Given the description of an element on the screen output the (x, y) to click on. 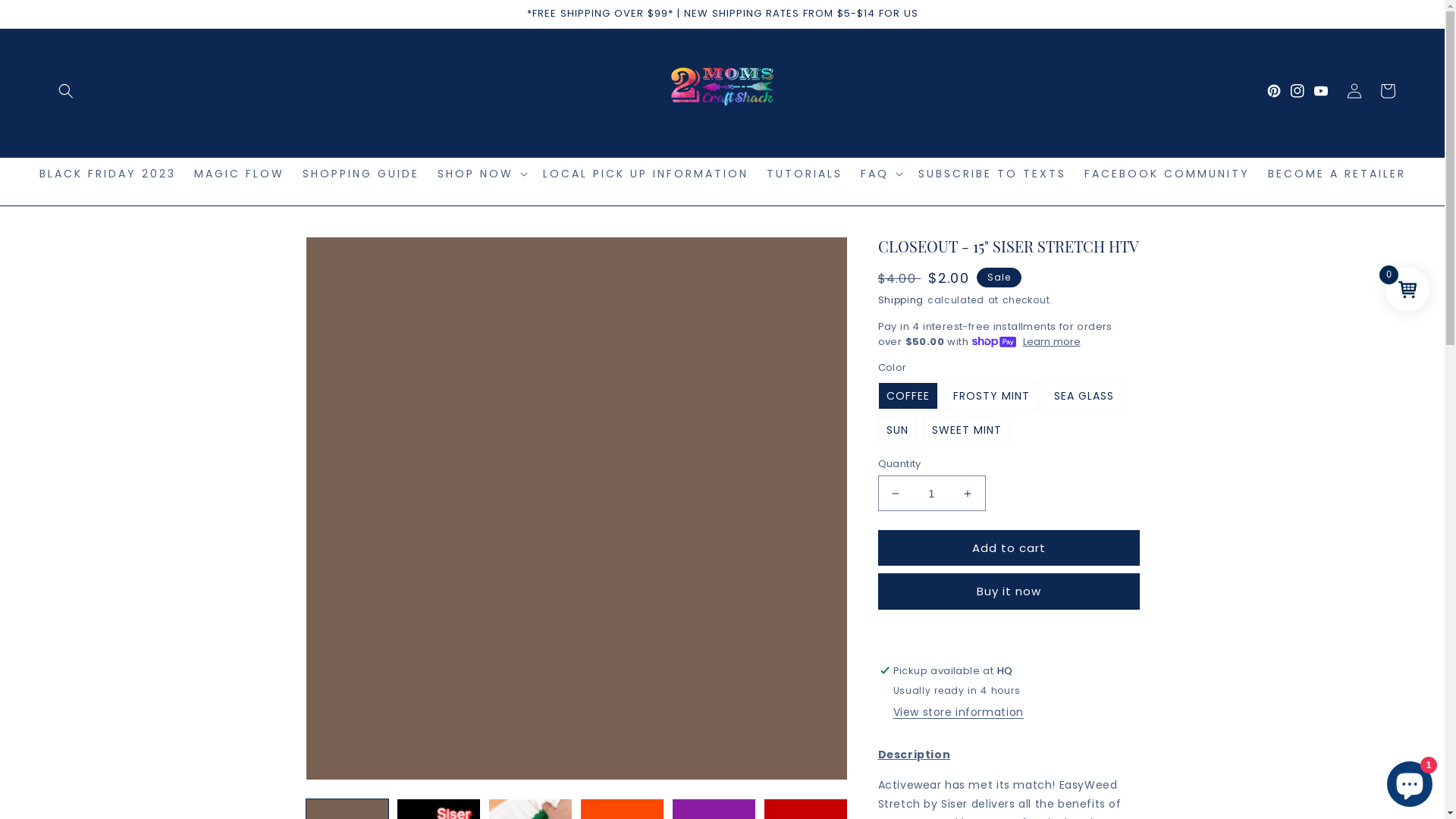
Skip to product information Element type: text (350, 253)
Cart Element type: text (1387, 90)
Log in Element type: text (1354, 90)
Shopify online store chat Element type: hover (1409, 780)
Pinterest Element type: text (1278, 90)
TUTORIALS Element type: text (803, 173)
0 Element type: text (1407, 289)
MAGIC FLOW Element type: text (239, 173)
Buy it now Element type: text (1008, 591)
Instagram Element type: text (1302, 90)
SUBSCRIBE TO TEXTS Element type: text (991, 173)
BECOME A RETAILER Element type: text (1336, 173)
BLACK FRIDAY 2023 Element type: text (107, 173)
Shipping Element type: text (901, 299)
View store information Element type: text (958, 712)
Increase quantity for CLOSEOUT - 15&quot; SISER STRETCH HTV Element type: text (967, 493)
Add to cart Element type: text (1008, 547)
SHOPPING GUIDE Element type: text (359, 173)
FACEBOOK COMMUNITY Element type: text (1166, 173)
LOCAL PICK UP INFORMATION Element type: text (645, 173)
Decrease quantity for CLOSEOUT - 15&quot; SISER STRETCH HTV Element type: text (895, 493)
YouTube Element type: text (1325, 90)
